Given the description of an element on the screen output the (x, y) to click on. 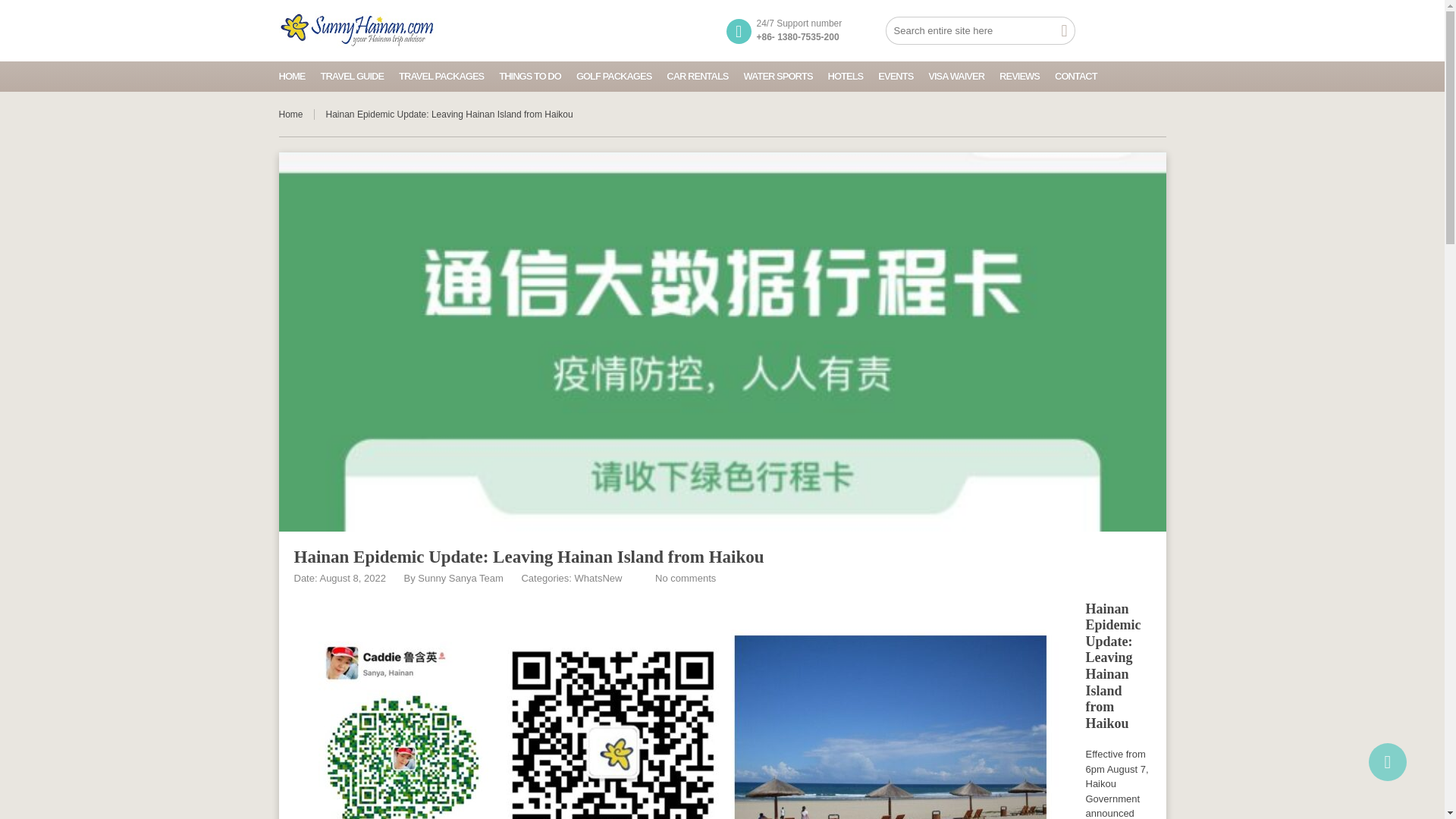
REVIEWS (1018, 75)
TRAVEL PACKAGES (440, 75)
Back up (1387, 761)
WATER SPORTS (778, 75)
Haikou (1107, 723)
CAR RENTALS (697, 75)
WhatsNew (599, 577)
CONTACT (1075, 75)
Sunny Sanya Team (460, 577)
VISA WAIVER (956, 75)
